Given the description of an element on the screen output the (x, y) to click on. 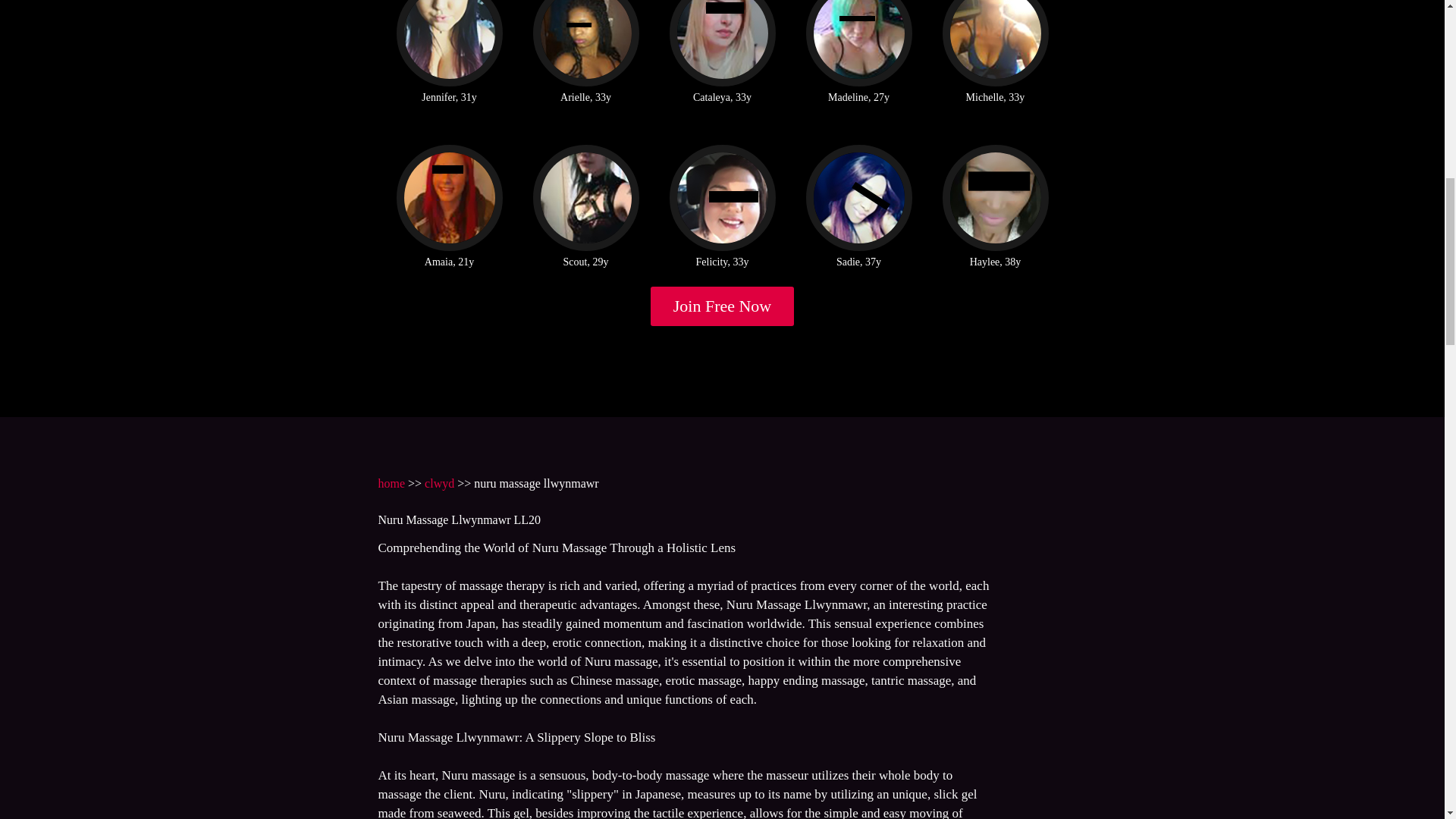
clwyd (439, 482)
home (390, 482)
Join Free Now (722, 305)
Join (722, 305)
